Given the description of an element on the screen output the (x, y) to click on. 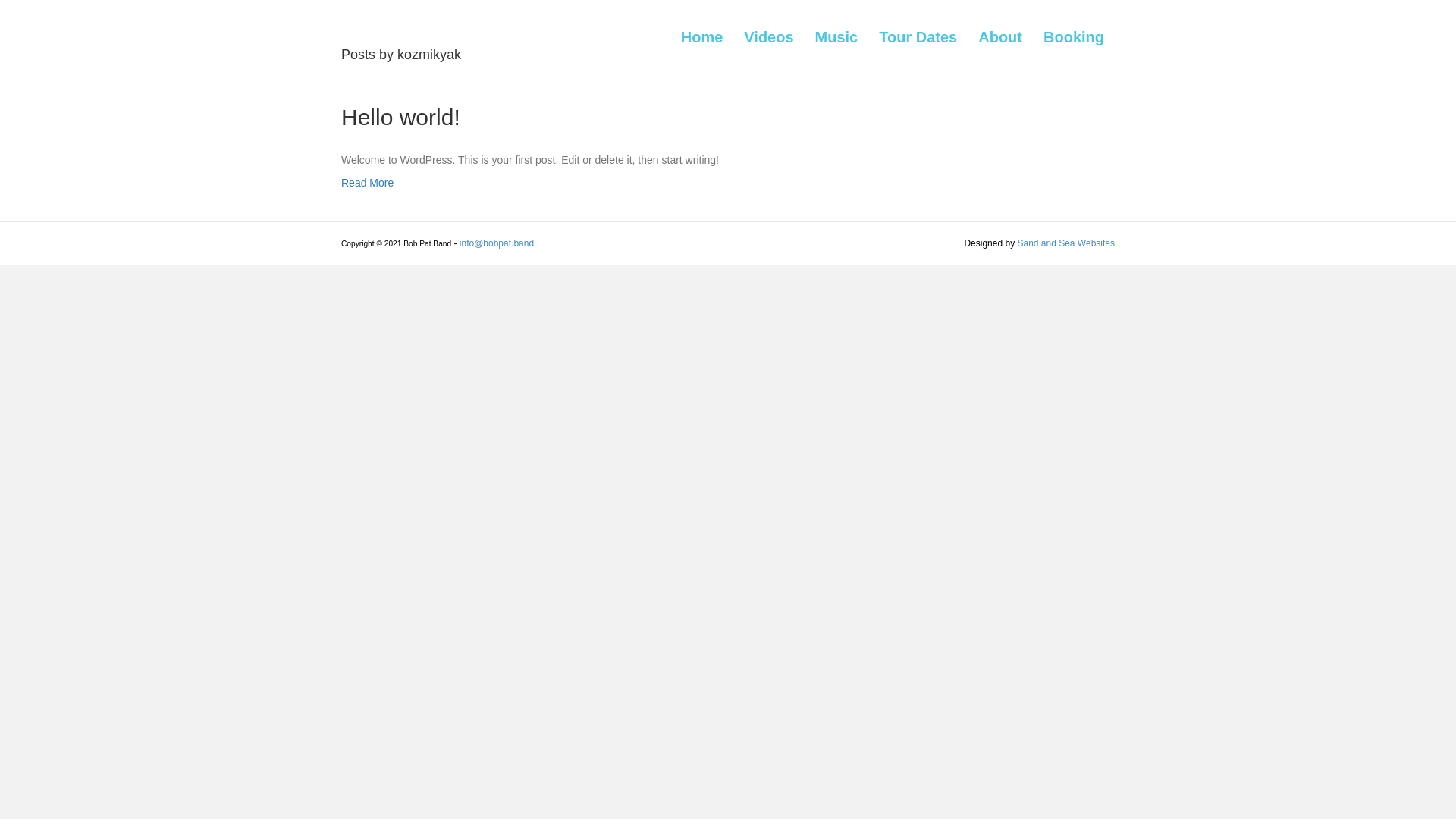
Booking Element type: text (1073, 37)
info@bobpat.band Element type: text (496, 243)
Read More Element type: text (367, 182)
Videos Element type: text (768, 37)
Sand and Sea Websites Element type: text (1065, 243)
Music Element type: text (836, 37)
Tour Dates Element type: text (917, 37)
About Element type: text (999, 37)
Hello world! Element type: text (400, 116)
Home Element type: text (702, 37)
